Given the description of an element on the screen output the (x, y) to click on. 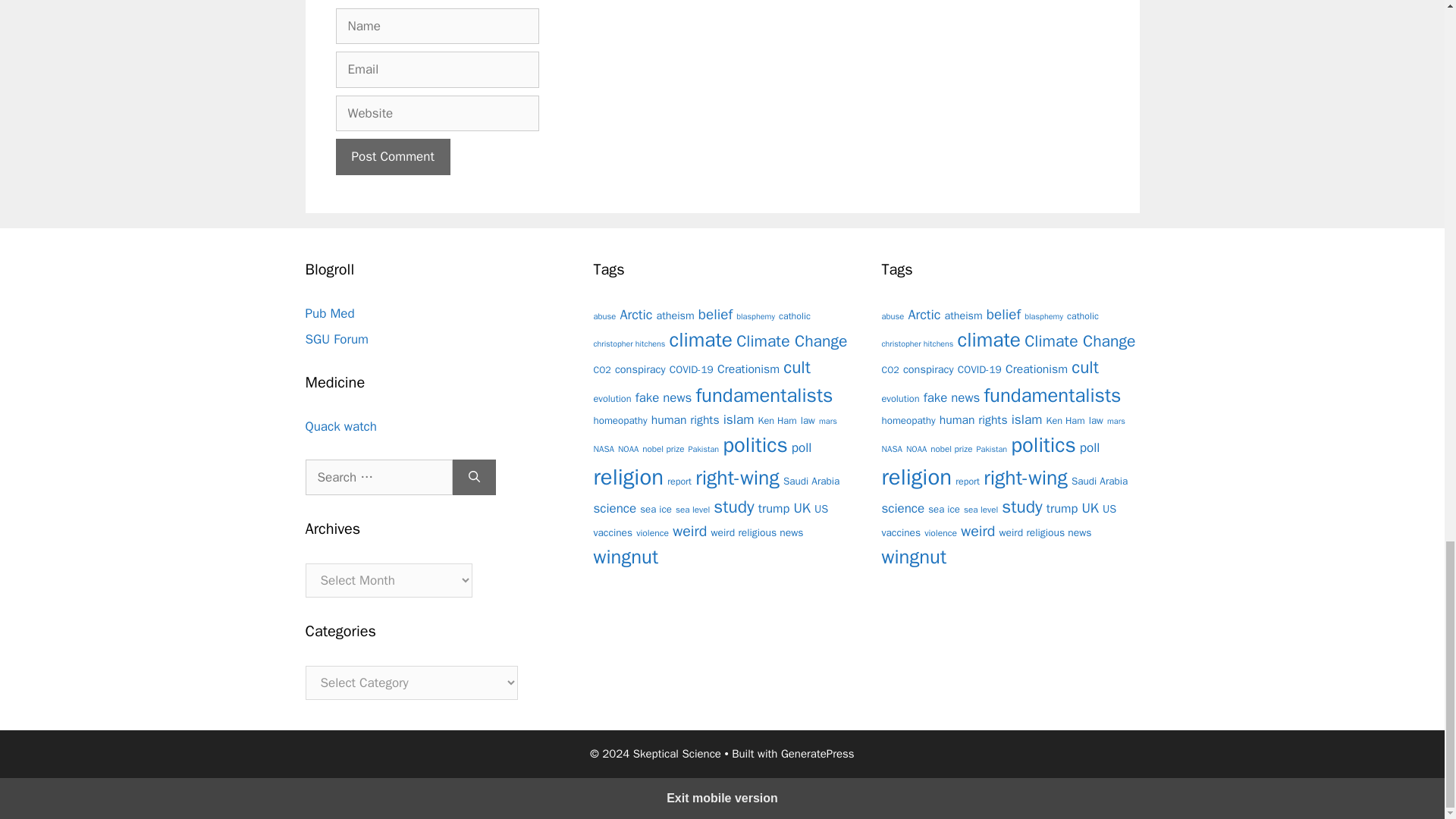
Post Comment (391, 156)
Pub Med (328, 313)
Post Comment (391, 156)
Search for: (377, 477)
Form for the Skeptics Guide to the Universe (336, 339)
